Given the description of an element on the screen output the (x, y) to click on. 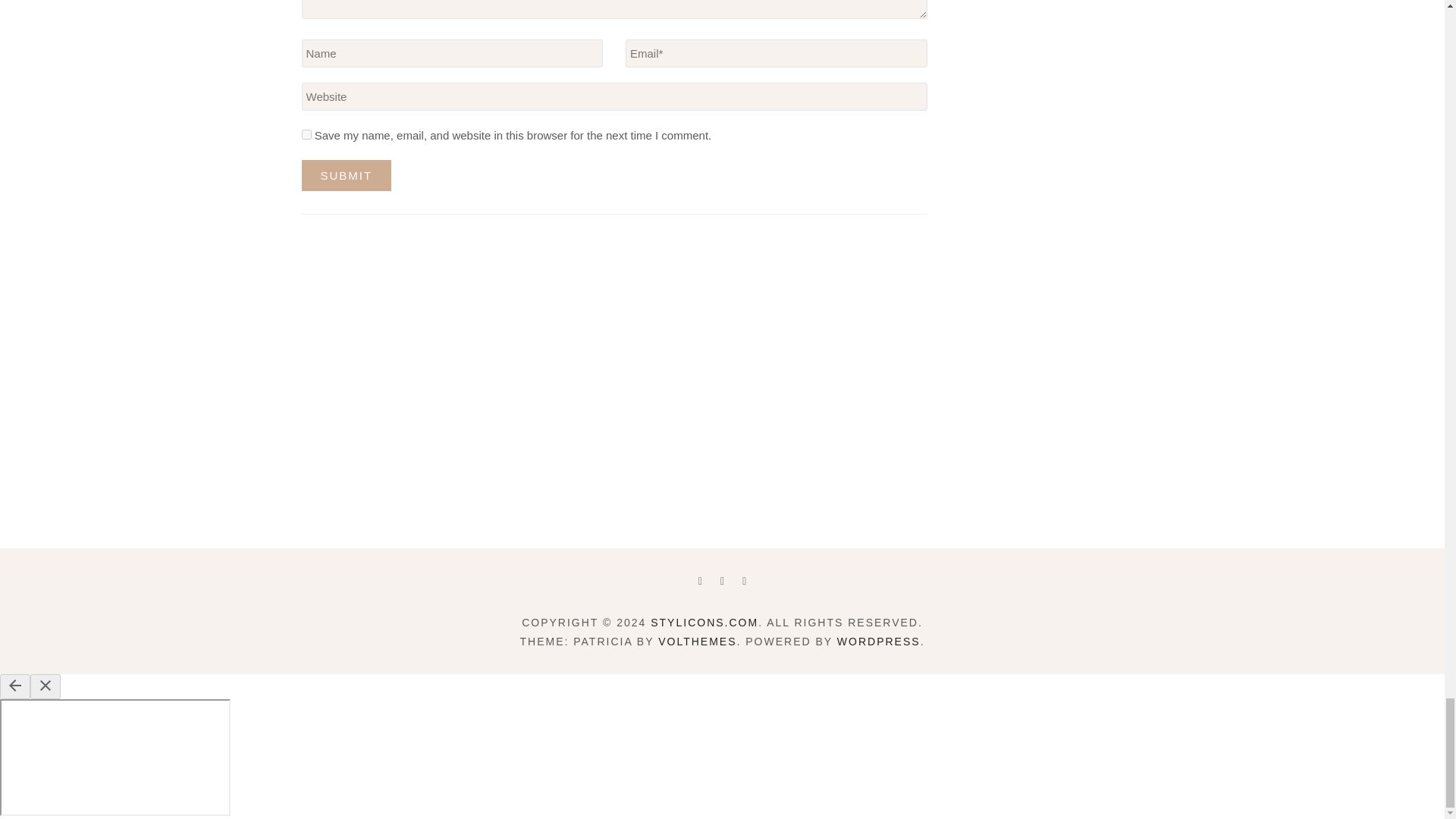
Submit (346, 174)
yes (306, 134)
VolThemes (697, 641)
WordPress (878, 641)
stylicons.com (704, 622)
